Given the description of an element on the screen output the (x, y) to click on. 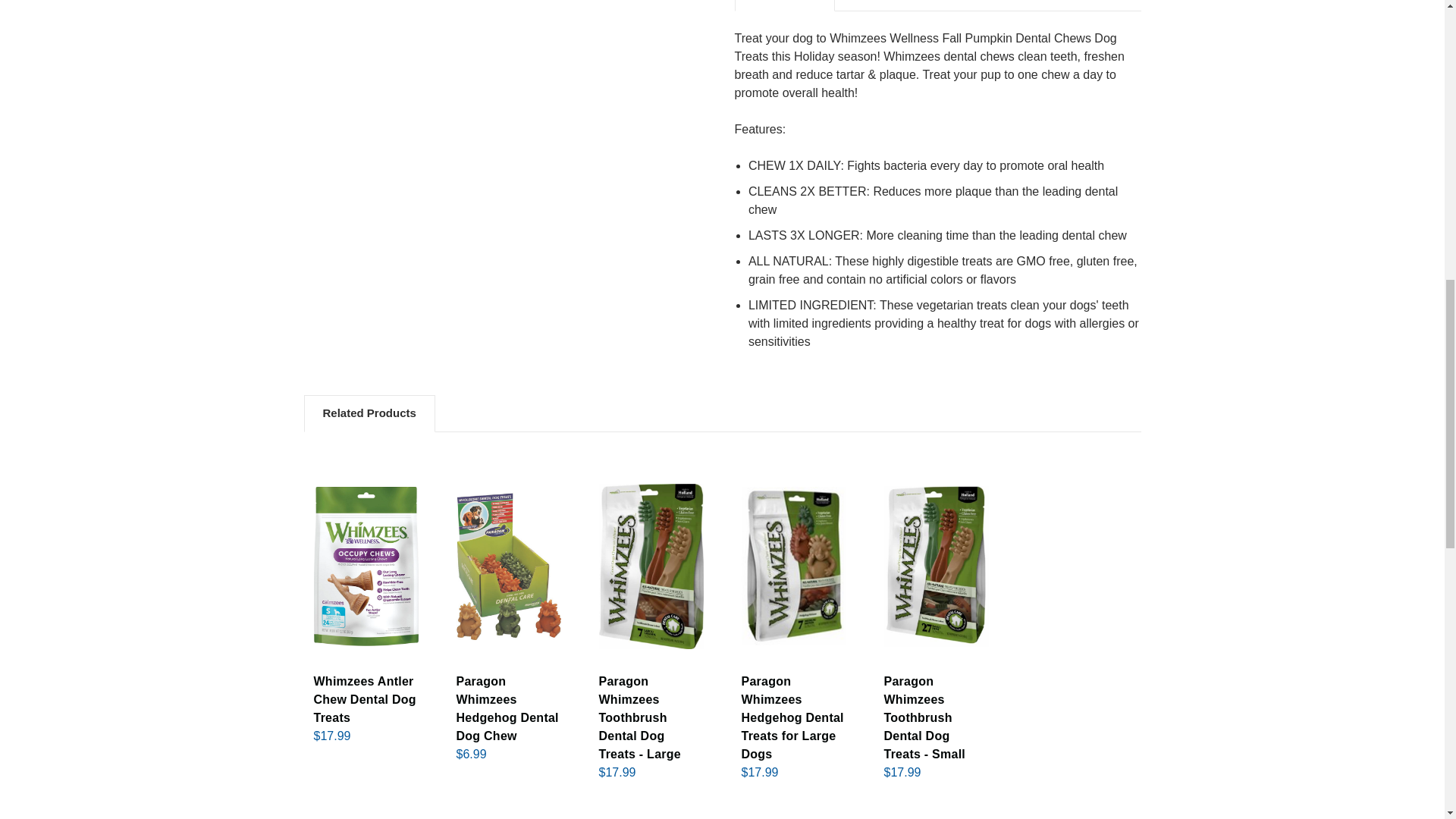
Paragon Whimzees Hedgehog Dental Treats for Large Dogs (793, 566)
Paragon Whimzees Toothbrush Dental Dog Treats - Small (935, 566)
Paragon Whimzees Hedgehog Dental Dog Chew (508, 566)
Whimzees Antler Chew Dental Dog Treats (366, 566)
Paragon Whimzees Toothbrush Dental Dog Treats - Large (650, 566)
